Given the description of an element on the screen output the (x, y) to click on. 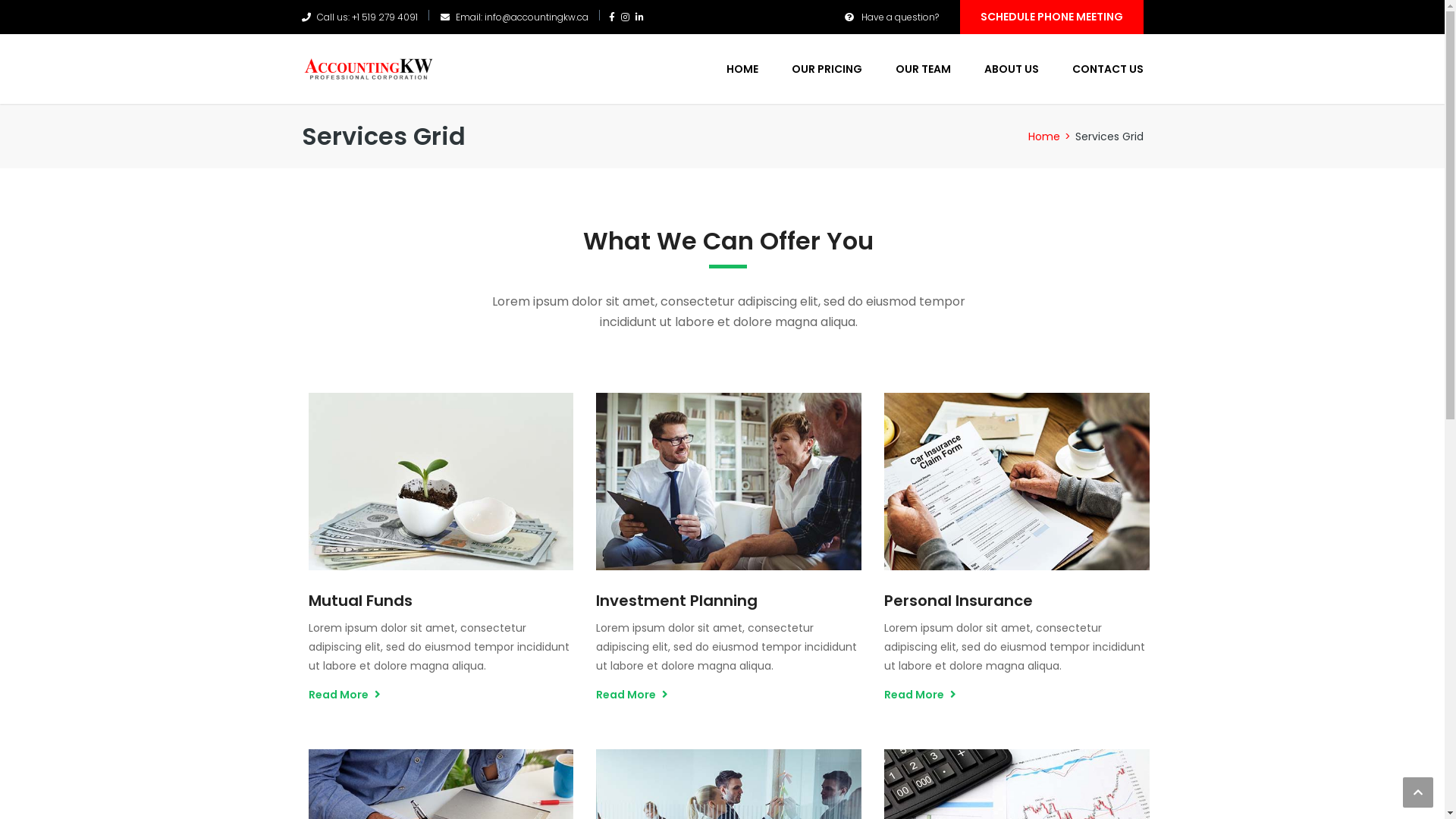
OUR PRICING Element type: text (826, 68)
services01-pageservices.jpg Element type: hover (440, 480)
HOME Element type: text (742, 68)
services02-pageservices.jpg Element type: hover (728, 480)
Investment Planning Element type: text (676, 600)
OUR TEAM Element type: text (922, 68)
info@accountingkw.ca Element type: text (535, 16)
Read More Element type: text (632, 694)
Personal Insurance Element type: text (958, 600)
CONTACT US Element type: text (1100, 68)
Home Element type: text (1044, 136)
Read More Element type: text (343, 694)
Mutual Funds Element type: text (359, 600)
ABOUT US Element type: text (1011, 68)
Read More Element type: text (920, 694)
+1 519 279 4091 Element type: text (384, 16)
AccountingKW Element type: hover (367, 65)
Search Element type: text (1122, 126)
SCHEDULE PHONE MEETING Element type: text (1051, 17)
